Given the description of an element on the screen output the (x, y) to click on. 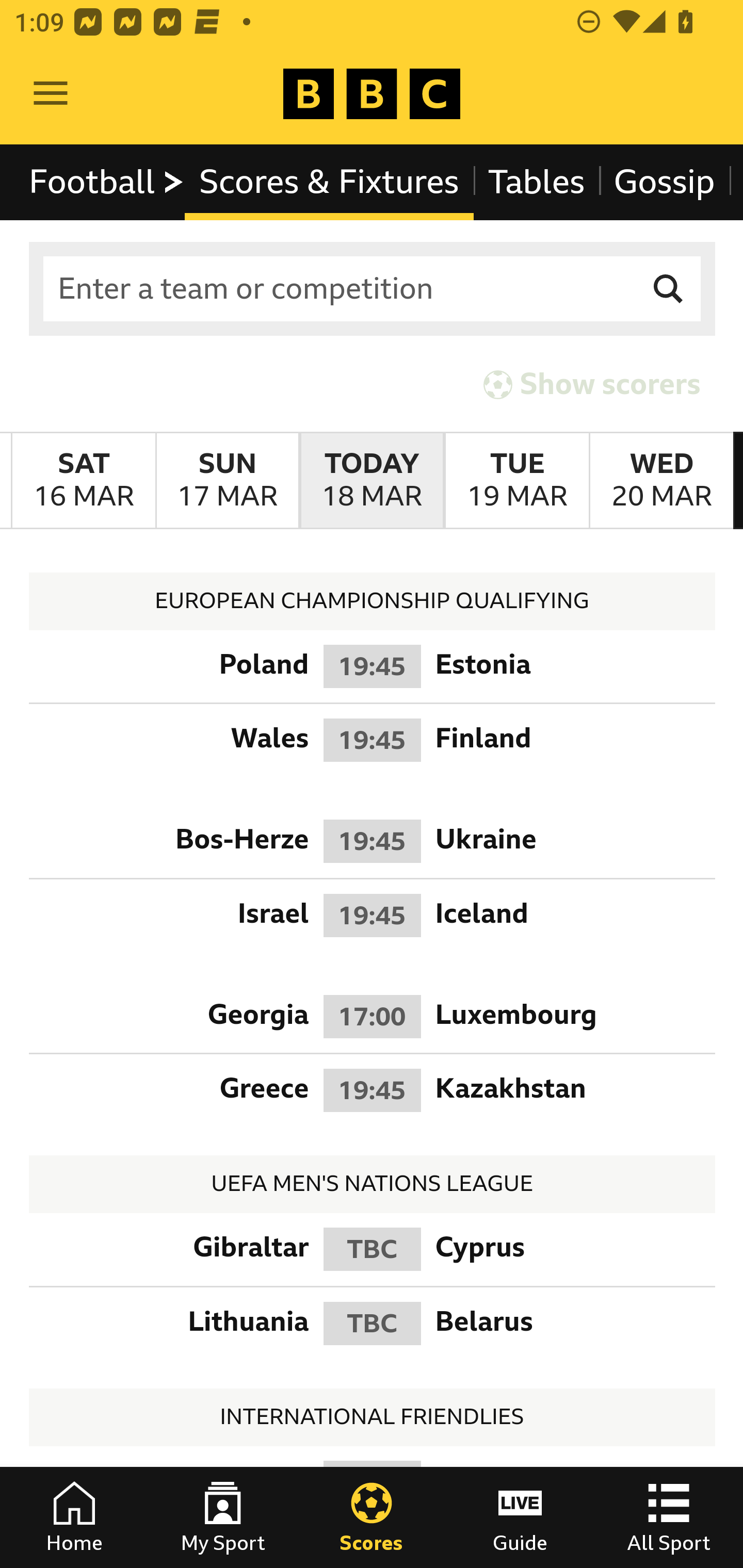
Open Menu (50, 93)
Football  (106, 181)
Scores & Fixtures (329, 181)
Tables (536, 181)
Gossip (664, 181)
Search (669, 289)
Show scorers (591, 383)
SaturdayMarch 16th Saturday March 16th (83, 480)
SundayMarch 17th Sunday March 17th (227, 480)
TodayMarch 18th Today March 18th (371, 480)
TuesdayMarch 19th Tuesday March 19th (516, 480)
WednesdayMarch 20th Wednesday March 20th (661, 480)
Home (74, 1517)
My Sport (222, 1517)
Guide (519, 1517)
All Sport (668, 1517)
